Given the description of an element on the screen output the (x, y) to click on. 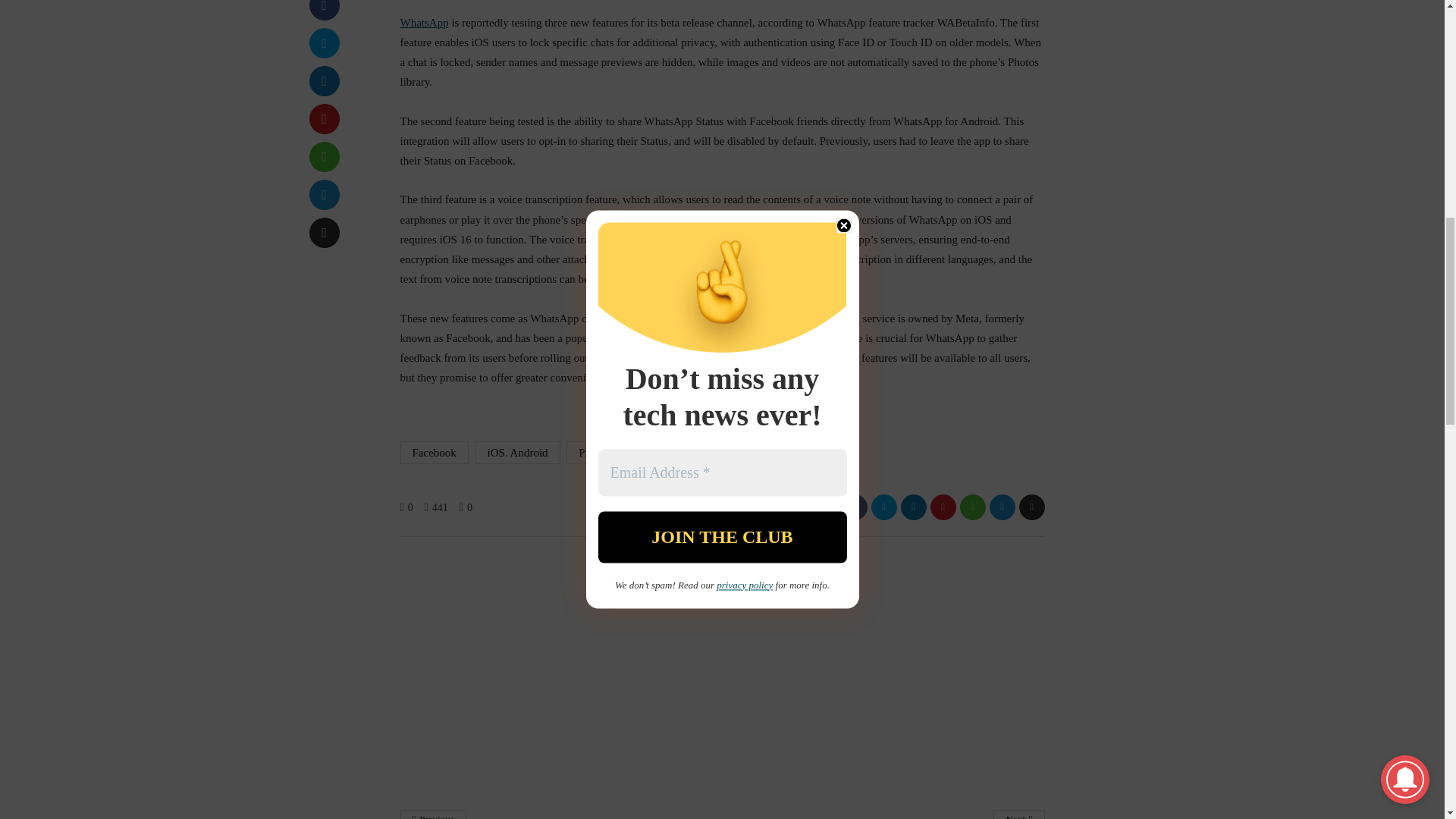
Share to Telegram (323, 194)
Share to WhatsApp (323, 156)
Share with LinkedIn (323, 81)
Tweet this (323, 42)
Pin this (323, 119)
Share by Email (323, 232)
Share with Facebook (323, 10)
